Given the description of an element on the screen output the (x, y) to click on. 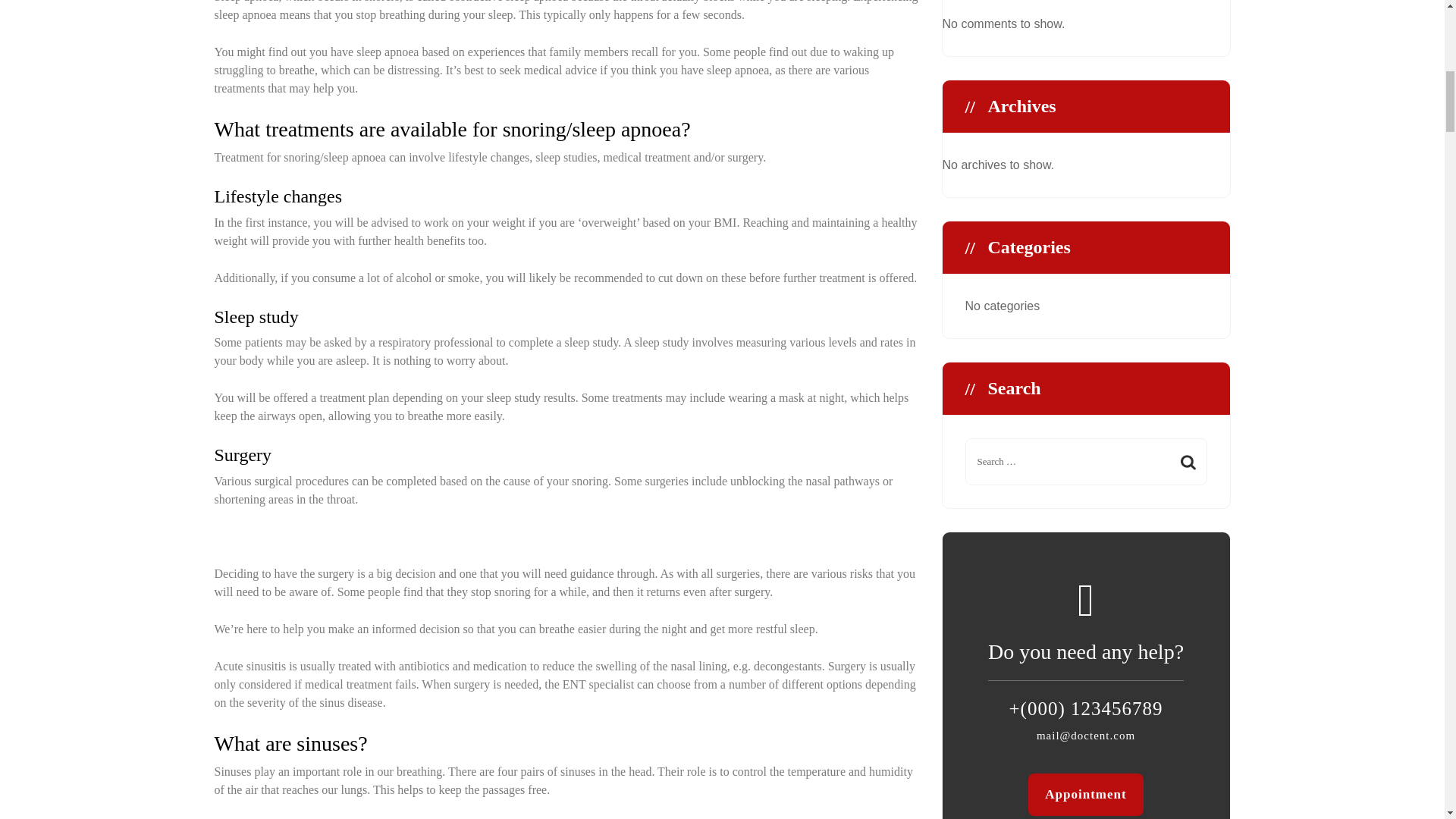
Search (1188, 462)
Appointment (1084, 794)
Search (1188, 462)
Search (1188, 462)
